Given the description of an element on the screen output the (x, y) to click on. 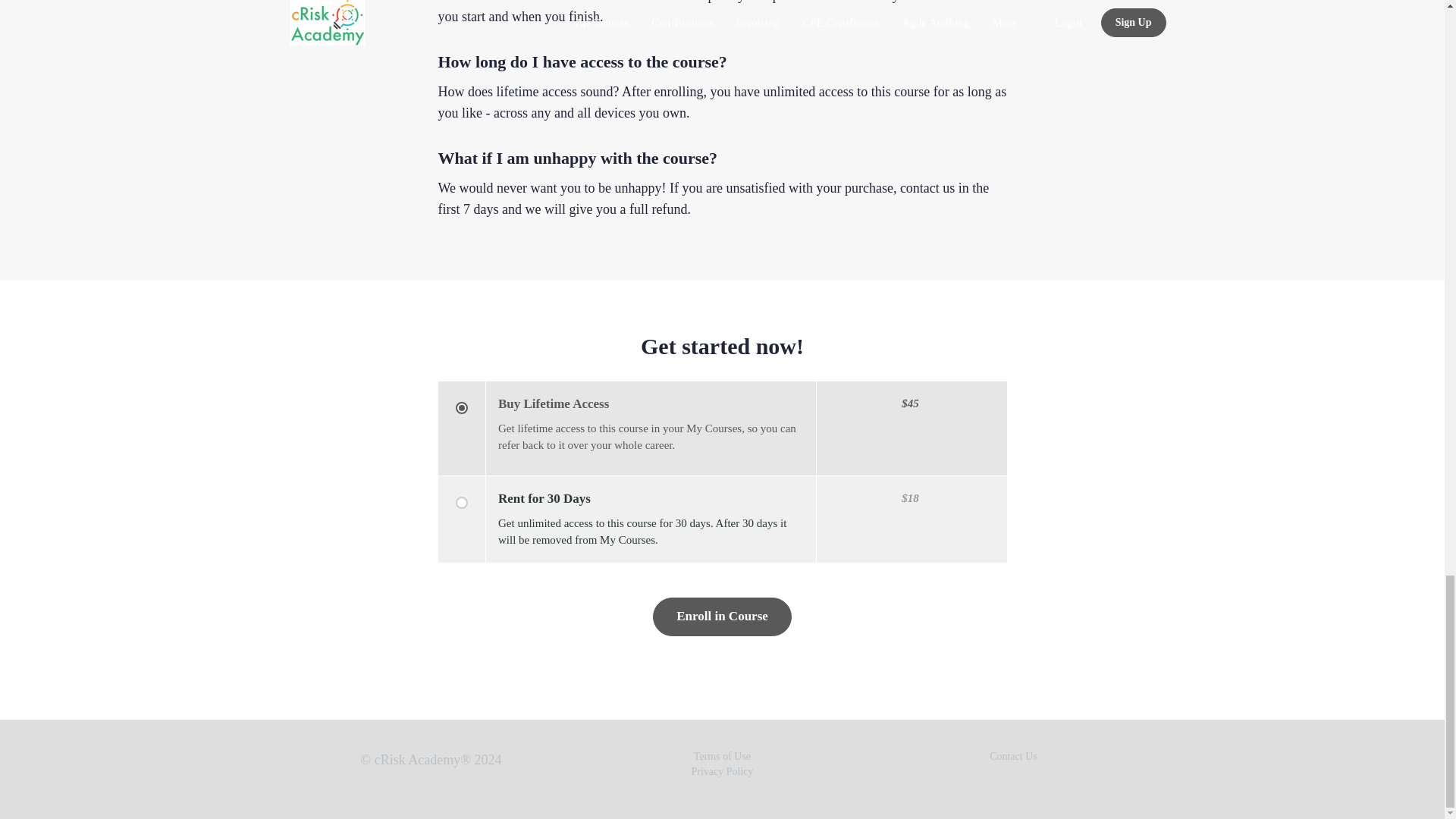
Privacy Policy (721, 771)
Contact Us (1013, 756)
Terms of Use (722, 756)
Enroll in Course (722, 616)
